Given the description of an element on the screen output the (x, y) to click on. 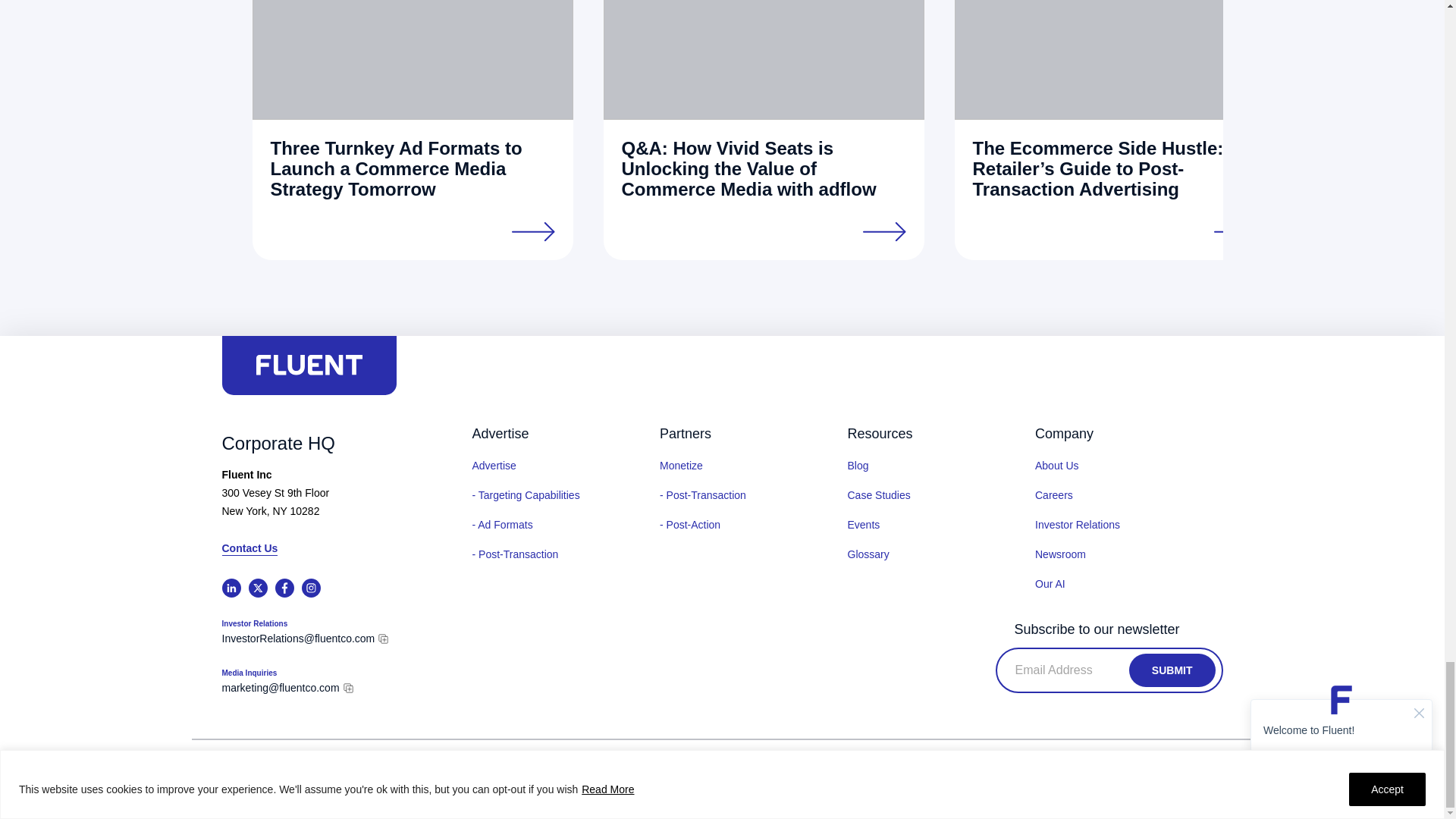
Submit (1172, 670)
Instagram (310, 587)
Fluent logo (309, 364)
LinkedIn (230, 587)
Facebook (284, 587)
Twitter (257, 587)
